Given the description of an element on the screen output the (x, y) to click on. 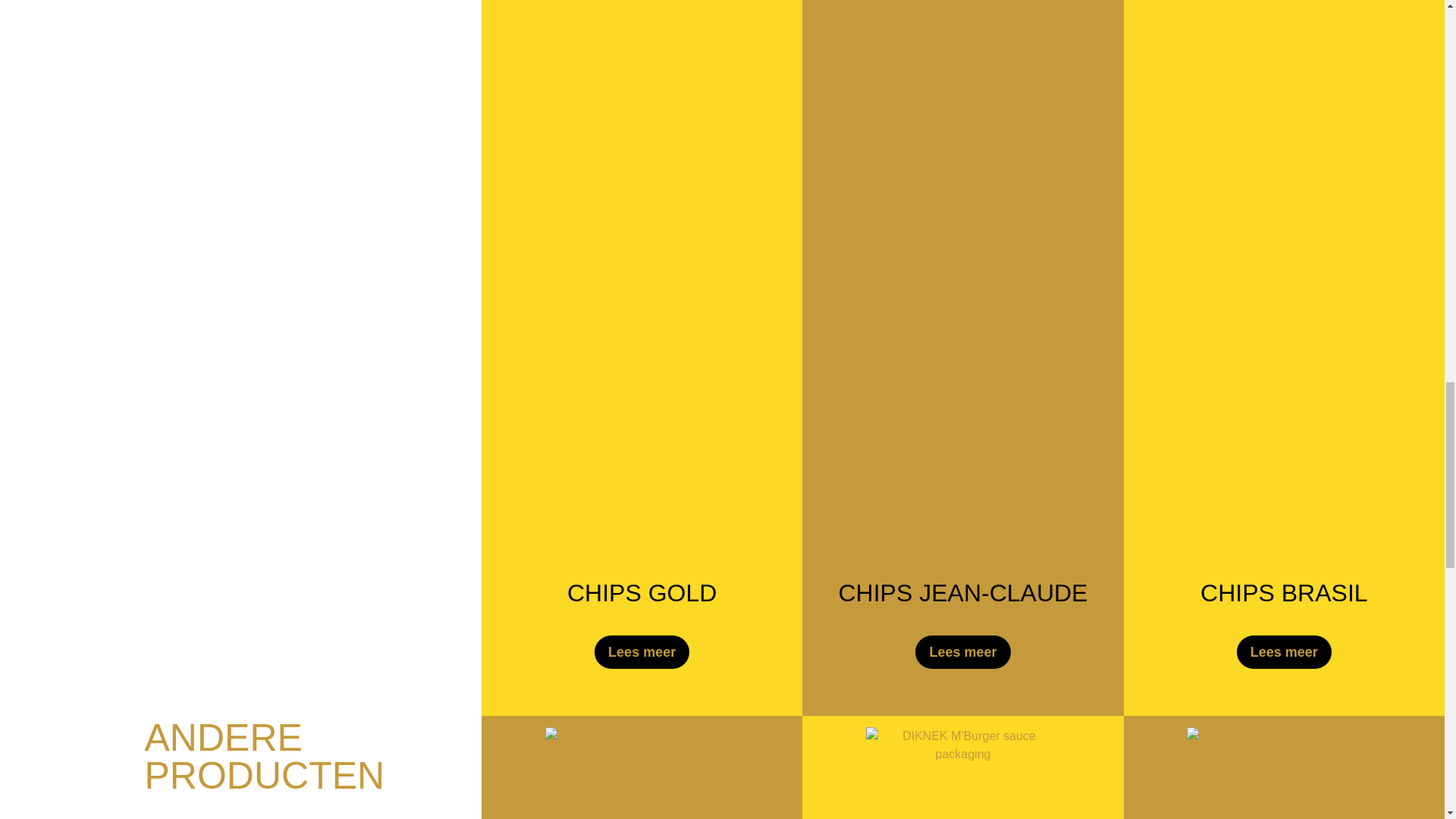
Lees meer (962, 652)
CHIPS GOLD (641, 592)
CHIPS BRASIL (1283, 592)
Lees meer (641, 652)
CHIPS JEAN-CLAUDE (962, 592)
Lees meer (1284, 652)
